Given the description of an element on the screen output the (x, y) to click on. 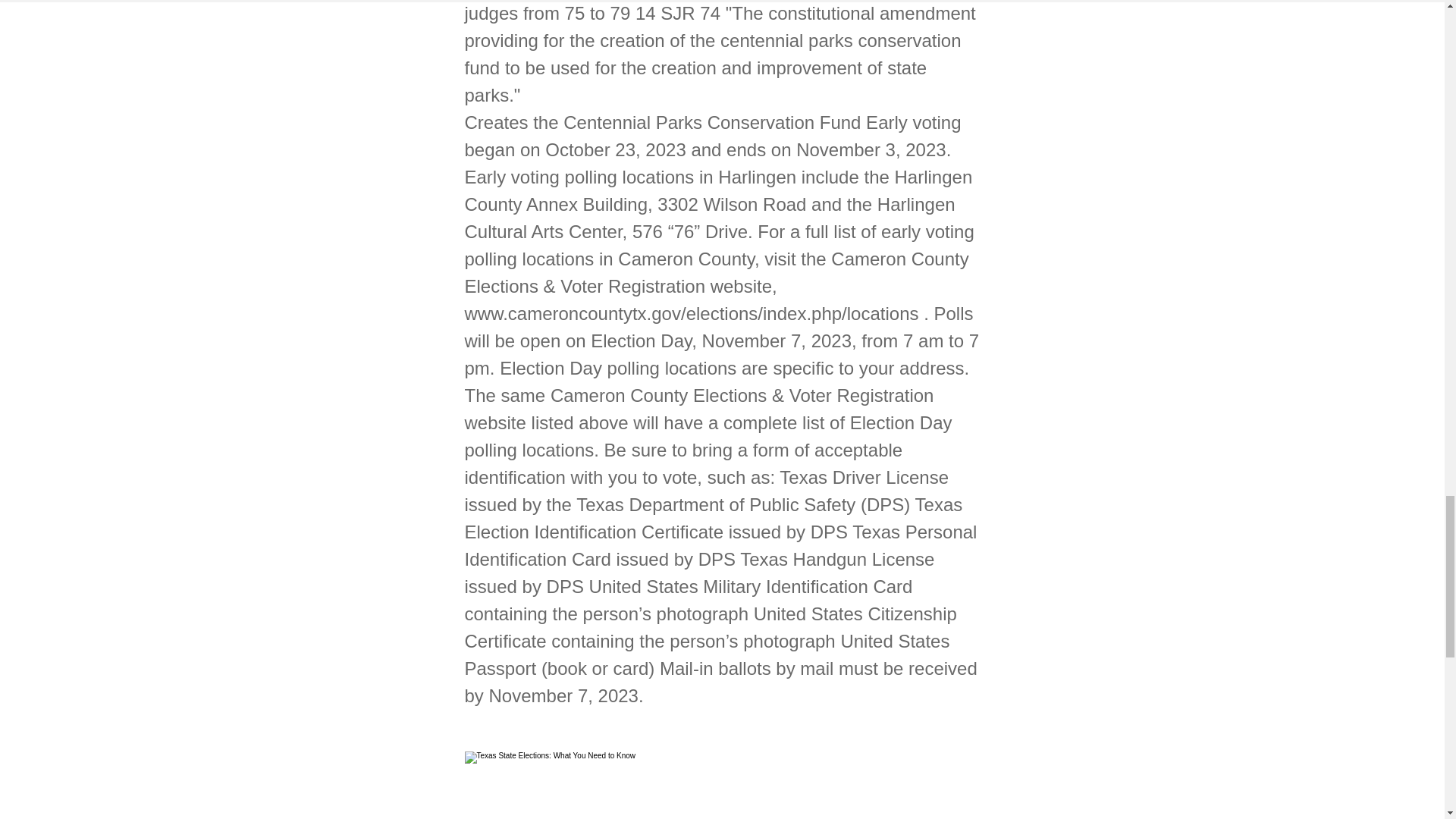
Texas State Elections: What You Need to Know (721, 785)
